Given the description of an element on the screen output the (x, y) to click on. 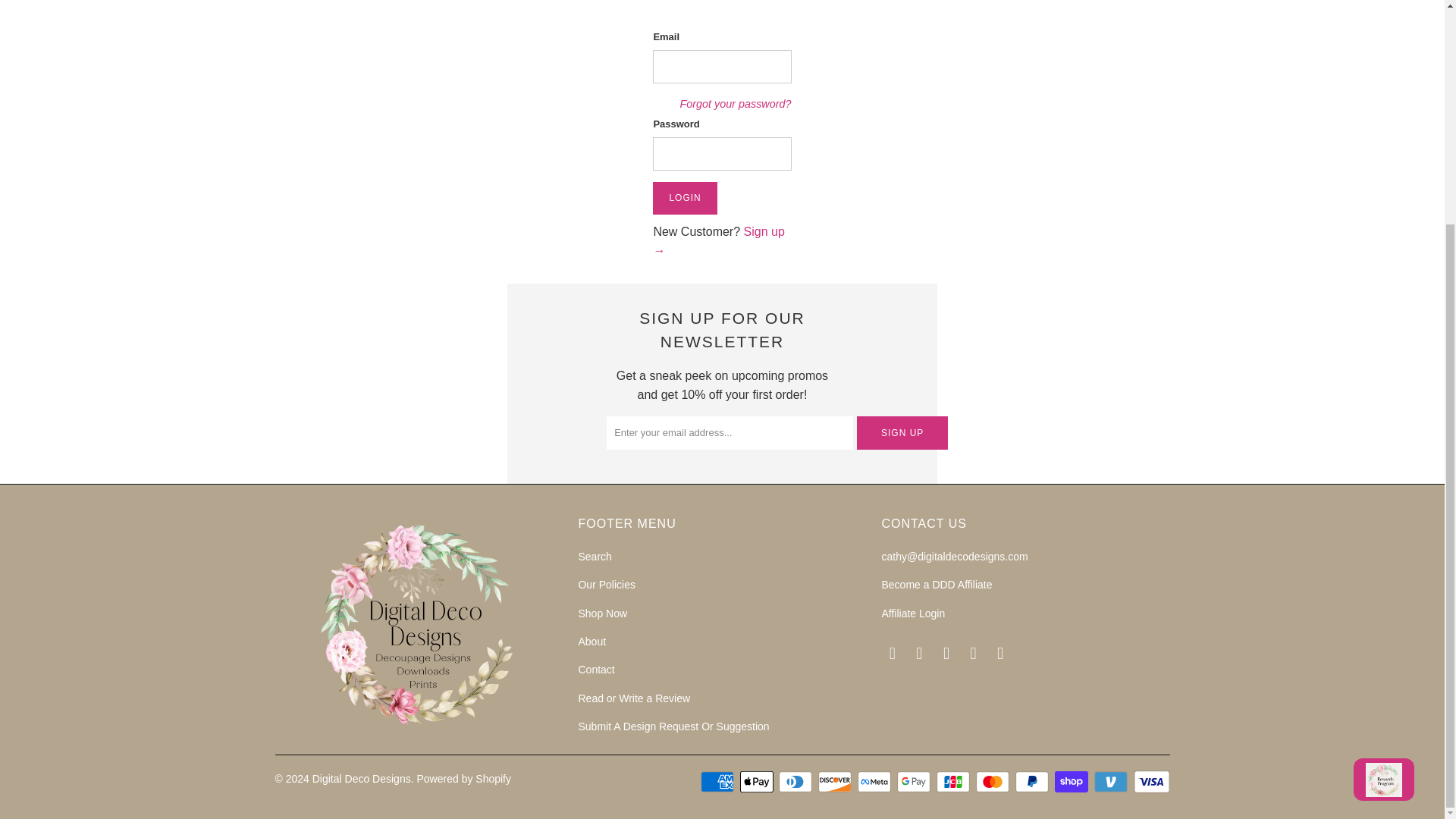
Apple Pay (757, 781)
Diners Club (796, 781)
JCB (954, 781)
Meta Pay (875, 781)
Digital Deco Designs on Instagram (947, 653)
Digital Deco Designs on Pinterest (973, 653)
Mastercard (993, 781)
Sign Up (902, 432)
Digital Deco Designs on Facebook (919, 653)
PayPal (1032, 781)
Discover (836, 781)
Affiliate Login (912, 613)
Digital Deco Designs on TikTok (1000, 653)
Google Pay (914, 781)
American Express (718, 781)
